Given the description of an element on the screen output the (x, y) to click on. 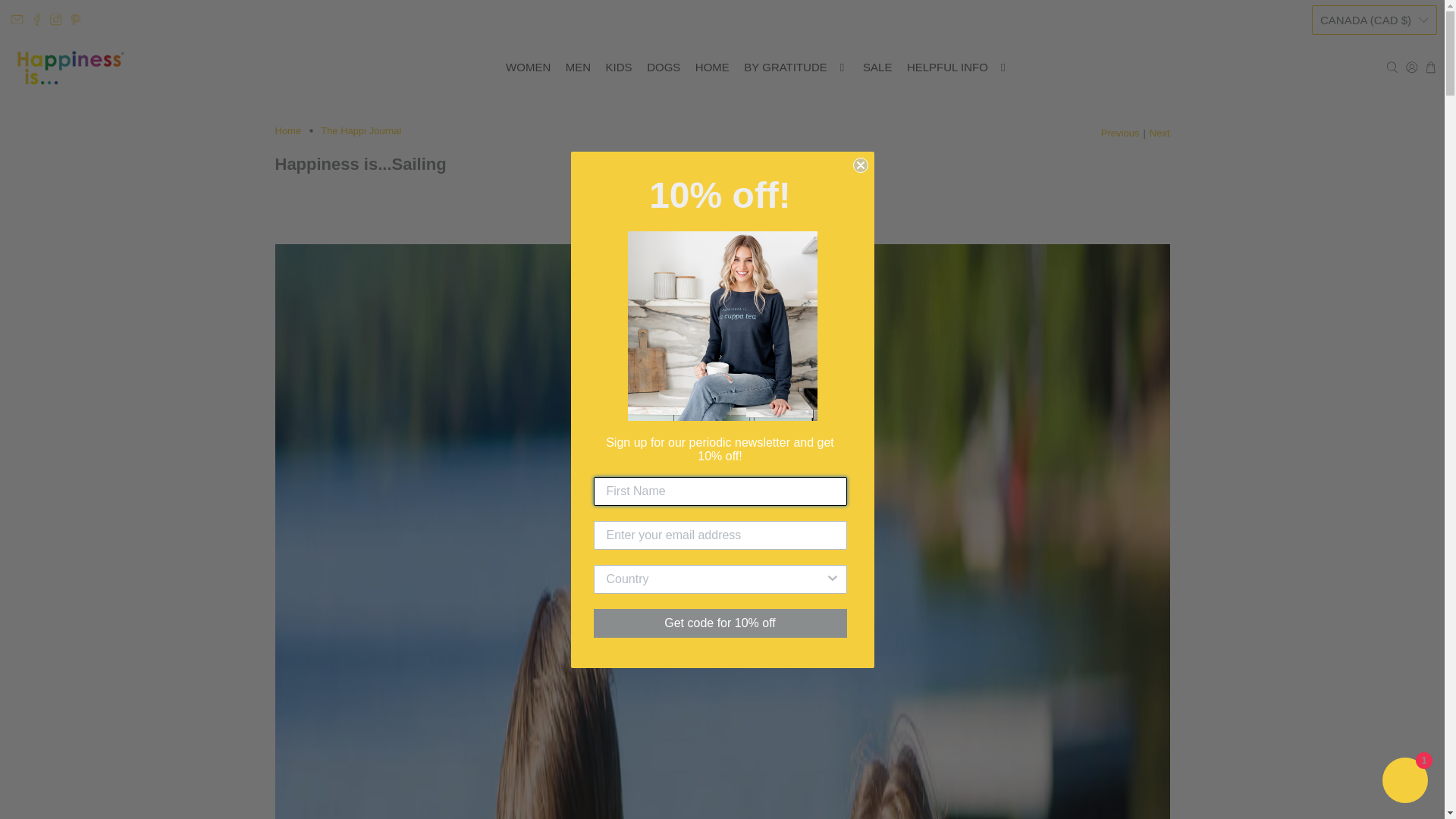
US (1374, 281)
HELPFUL INFO (957, 67)
Email Happiness Is... (17, 19)
NZ (1374, 199)
KIDS (619, 67)
GB (1374, 240)
WOMEN (527, 67)
CA (1374, 81)
AU (1374, 53)
Happiness Is... on Pinterest (75, 19)
BY GRATITUDE (796, 67)
DOGS (663, 67)
DE (1374, 109)
The Happi Journal (360, 130)
Previous (1120, 132)
